Given the description of an element on the screen output the (x, y) to click on. 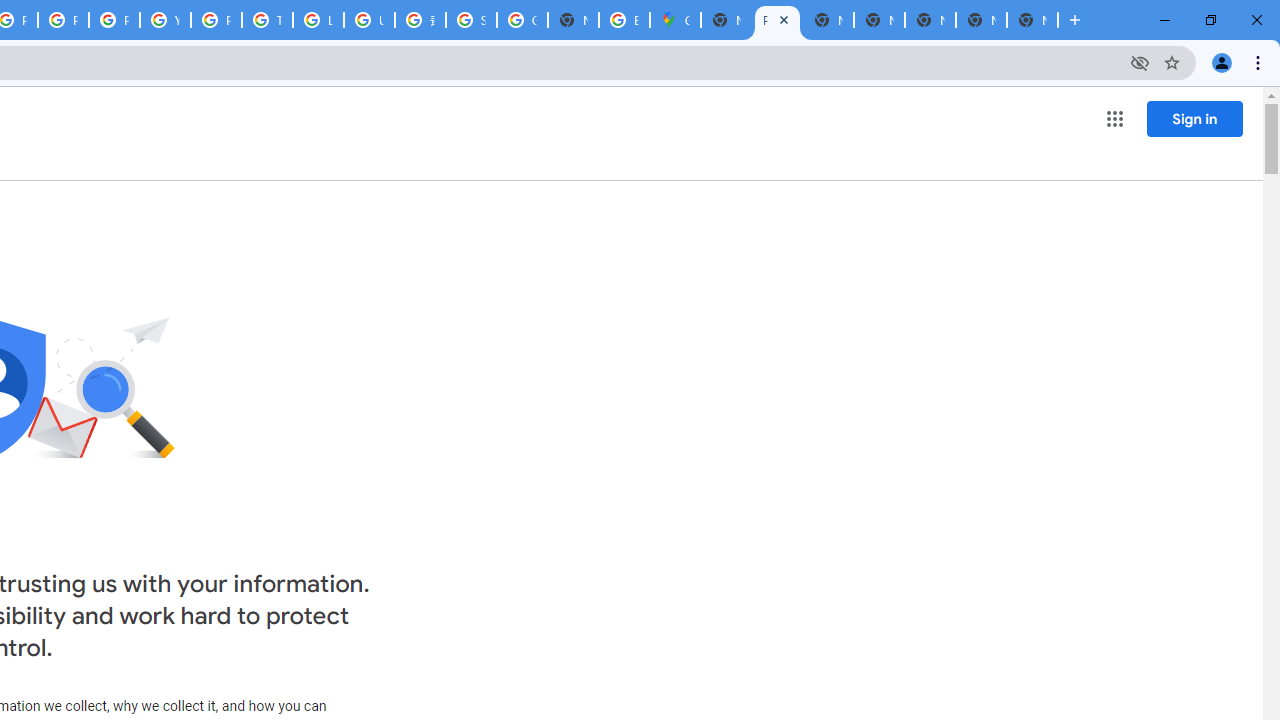
YouTube (164, 20)
Google Maps (675, 20)
New Tab (726, 20)
Privacy Help Center - Policies Help (63, 20)
Tips & tricks for Chrome - Google Chrome Help (267, 20)
